Given the description of an element on the screen output the (x, y) to click on. 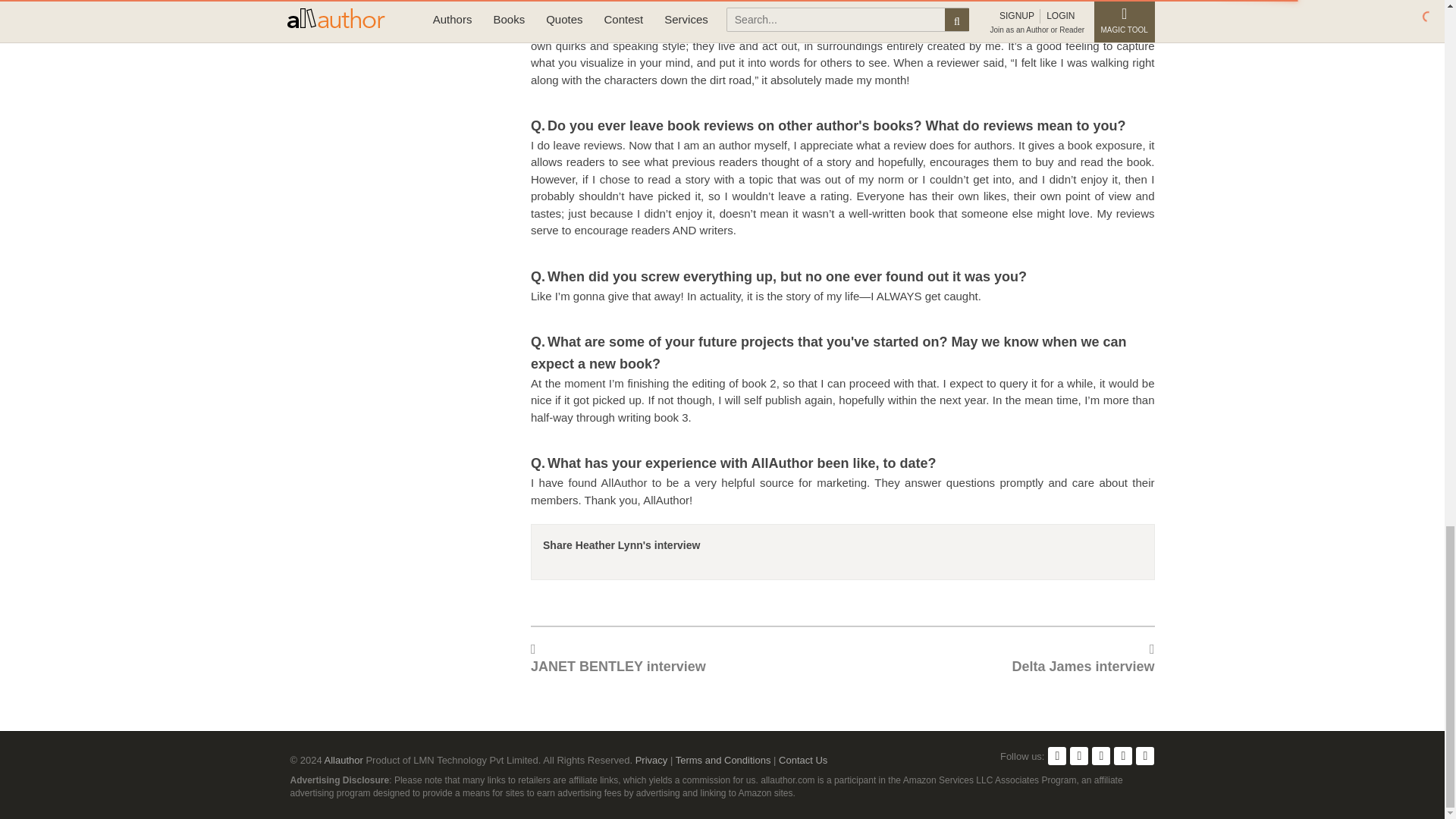
Contact Us (802, 759)
Linkedin (1100, 755)
Privacy (651, 759)
Pinterest (1122, 755)
Terms and Conditions (723, 759)
Allauthor (343, 759)
Facebook (1056, 755)
Instagram (1144, 755)
Twitter (1078, 755)
